Given the description of an element on the screen output the (x, y) to click on. 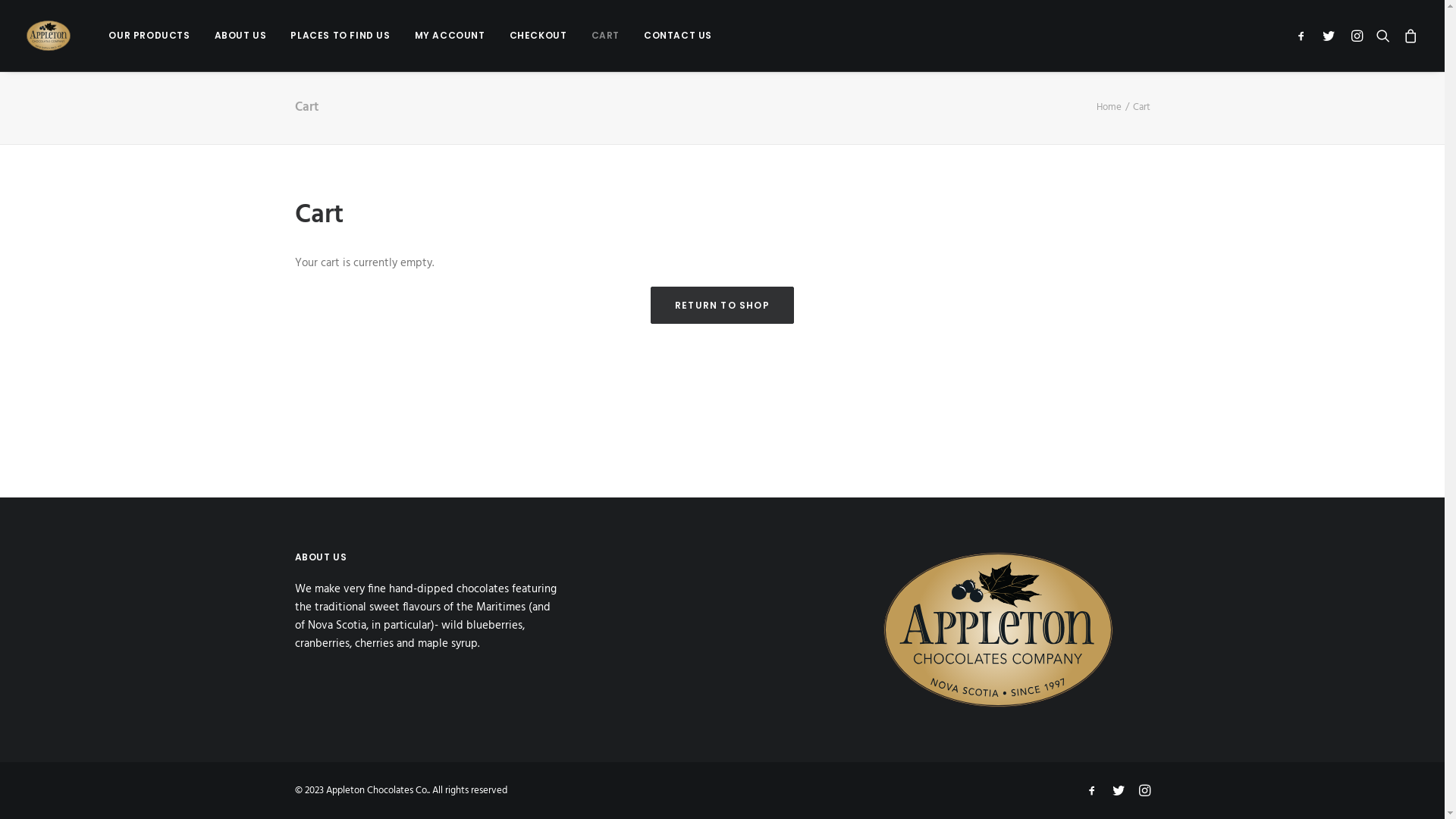
OUR PRODUCTS Element type: text (148, 35)
MY ACCOUNT Element type: text (449, 35)
CHECKOUT Element type: text (537, 35)
Home Element type: text (1108, 107)
RETURN TO SHOP Element type: text (721, 304)
CART Element type: text (605, 35)
PLACES TO FIND US Element type: text (339, 35)
ABOUT US Element type: text (240, 35)
cart Element type: hover (1407, 35)
CONTACT US Element type: text (672, 35)
